Given the description of an element on the screen output the (x, y) to click on. 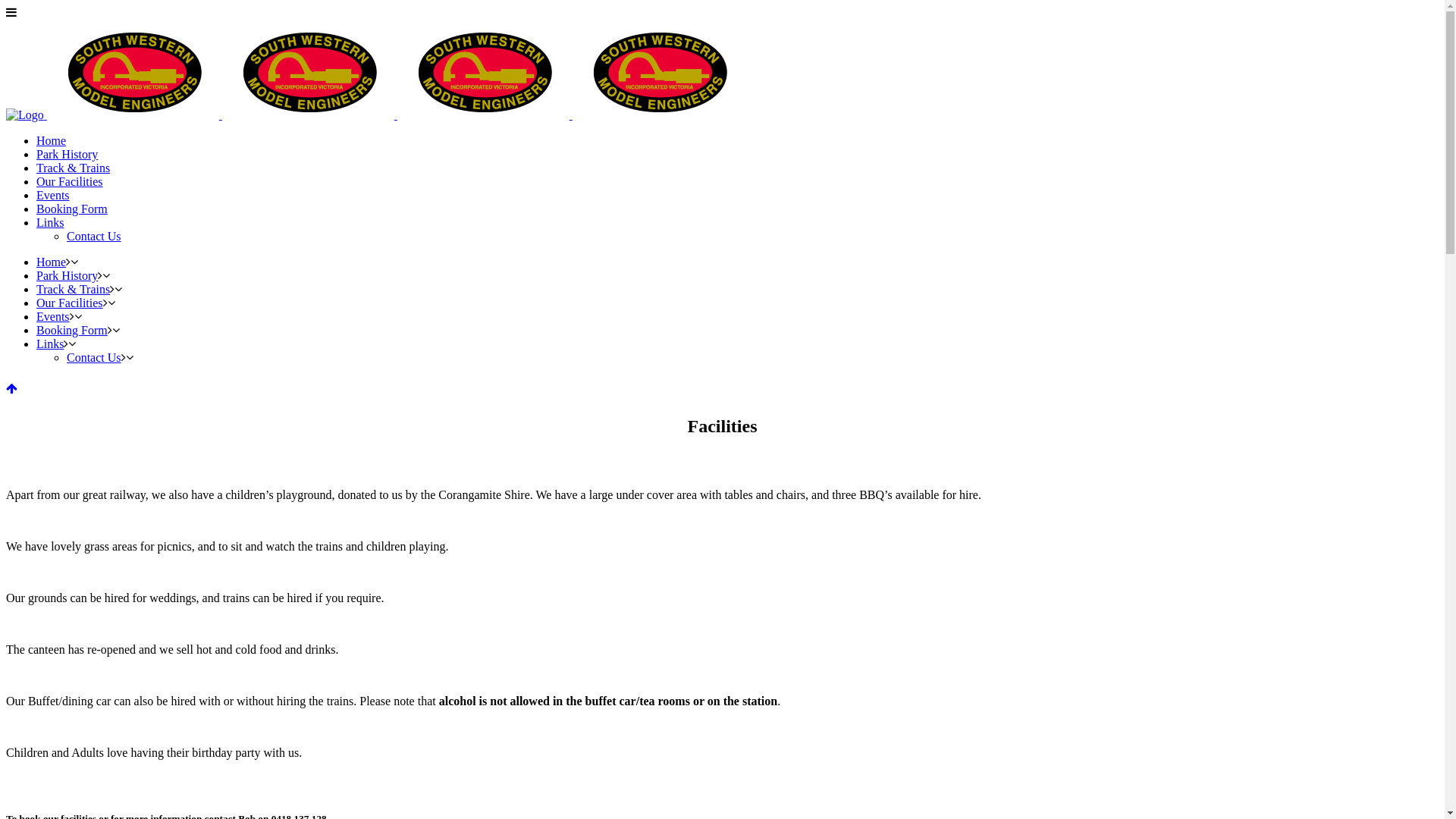
Links Element type: text (49, 343)
Our Facilities Element type: text (69, 302)
Home Element type: text (50, 140)
Events Element type: text (52, 316)
Contact Us Element type: text (93, 357)
Contact Us Element type: text (93, 235)
Track & Trains Element type: text (72, 288)
Booking Form Element type: text (71, 329)
Home Element type: text (50, 261)
Track & Trains Element type: text (72, 167)
Our Facilities Element type: text (69, 181)
Links Element type: text (49, 222)
Park History Element type: text (66, 275)
Booking Form Element type: text (71, 208)
Park History Element type: text (66, 153)
Events Element type: text (52, 194)
